Given the description of an element on the screen output the (x, y) to click on. 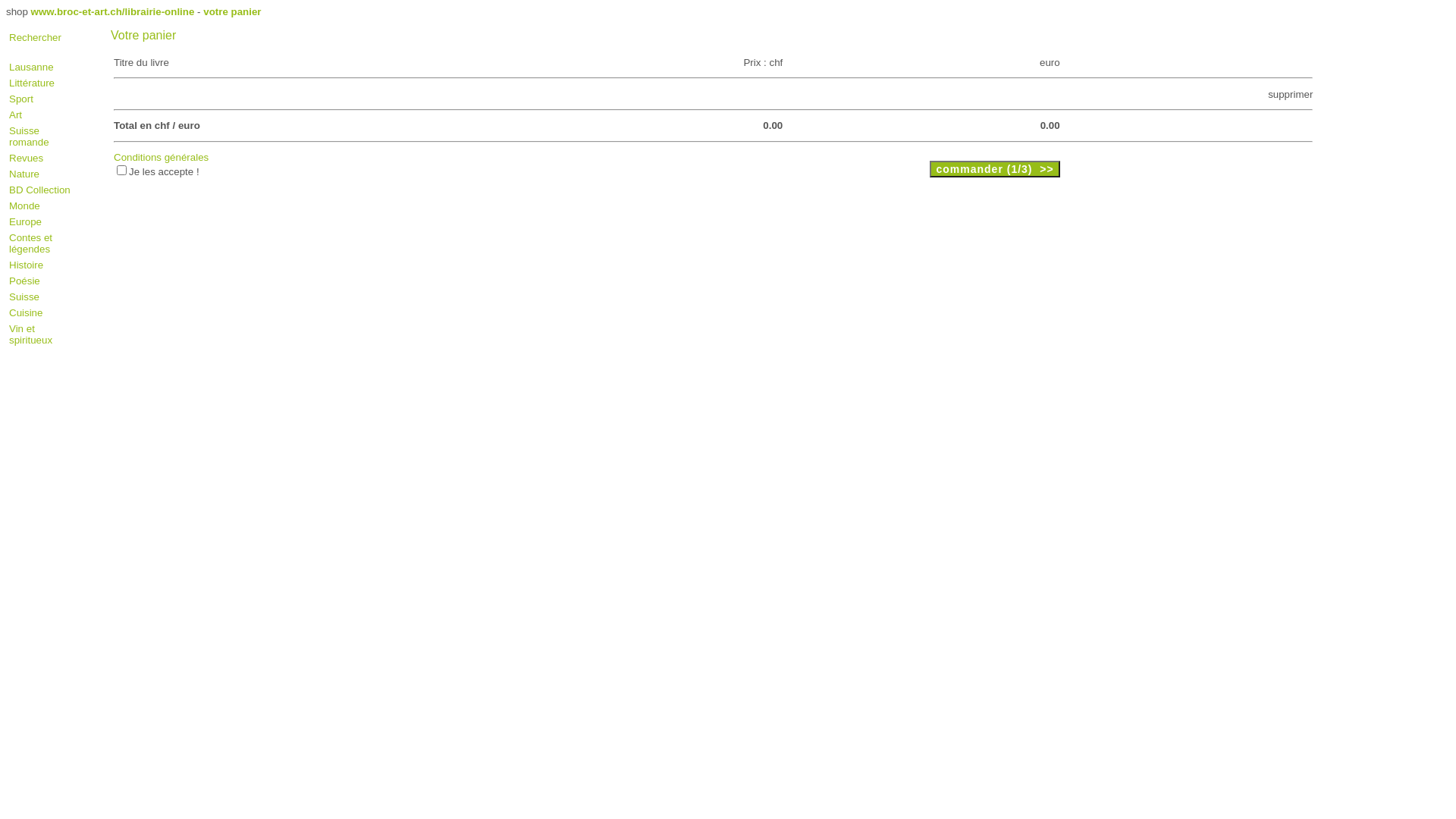
Cuisine Element type: text (25, 312)
Monde Element type: text (24, 205)
Europe Element type: text (25, 221)
commander (1/3)  >> Element type: text (994, 168)
Nature Element type: text (24, 173)
Vin et spiritueux Element type: text (30, 334)
Sport Element type: text (21, 98)
Revues Element type: text (26, 157)
supprimer Element type: text (1289, 94)
votre panier Element type: text (231, 11)
Histoire Element type: text (26, 264)
Art Element type: text (15, 114)
Lausanne Element type: text (31, 66)
Suisse romande Element type: text (29, 136)
BD Collection Element type: text (39, 189)
Suisse Element type: text (24, 296)
Rechercher Element type: text (35, 37)
www.broc-et-art.ch/librairie-online Element type: text (112, 11)
